Given the description of an element on the screen output the (x, y) to click on. 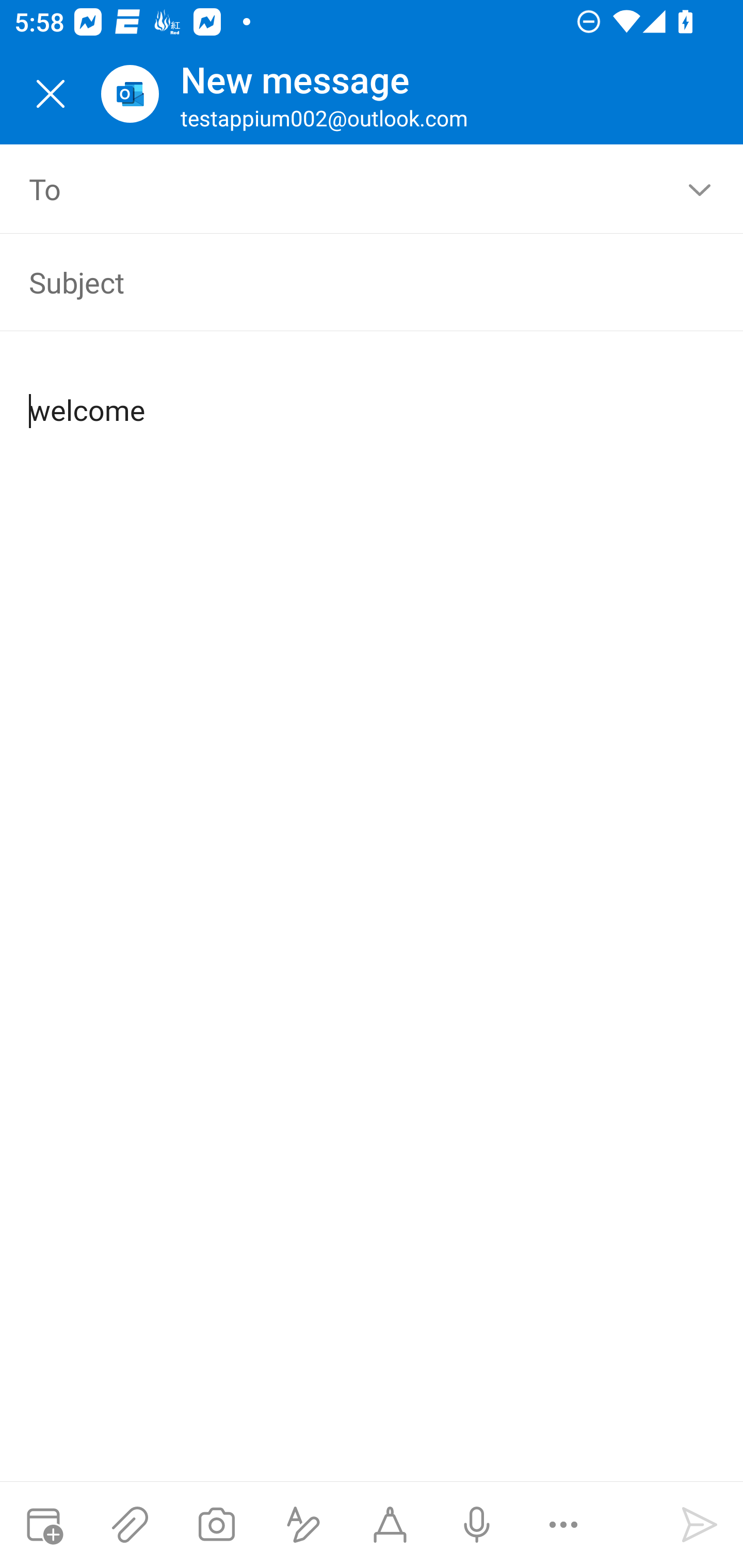
Close (50, 93)
Subject (342, 281)

welcome (372, 394)
Attach meeting (43, 1524)
Attach files (129, 1524)
Take a photo (216, 1524)
Show formatting options (303, 1524)
Start Ink compose (389, 1524)
Dictation (476, 1524)
More options (563, 1524)
Send (699, 1524)
